Given the description of an element on the screen output the (x, y) to click on. 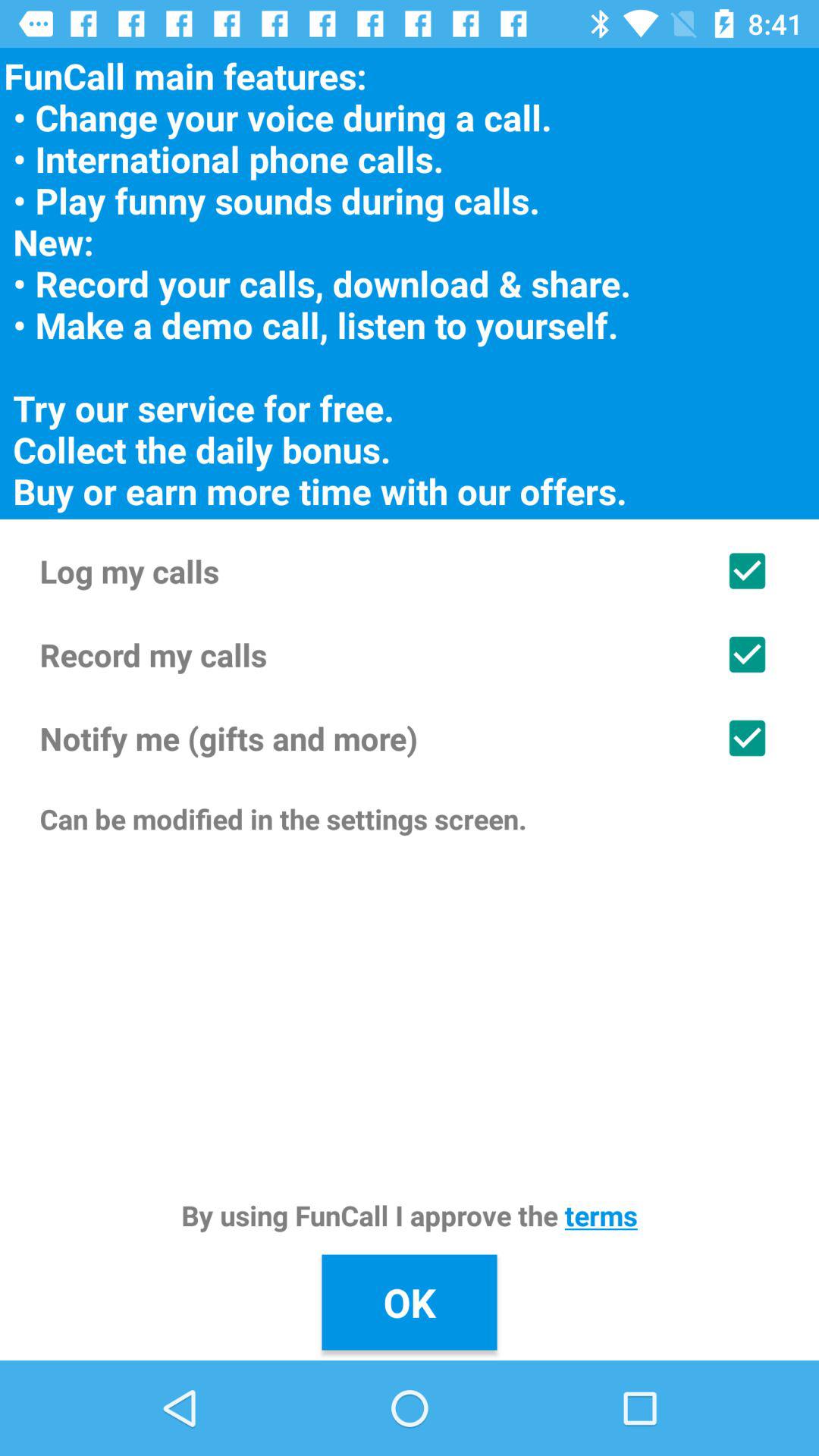
swipe to ok icon (409, 1302)
